Given the description of an element on the screen output the (x, y) to click on. 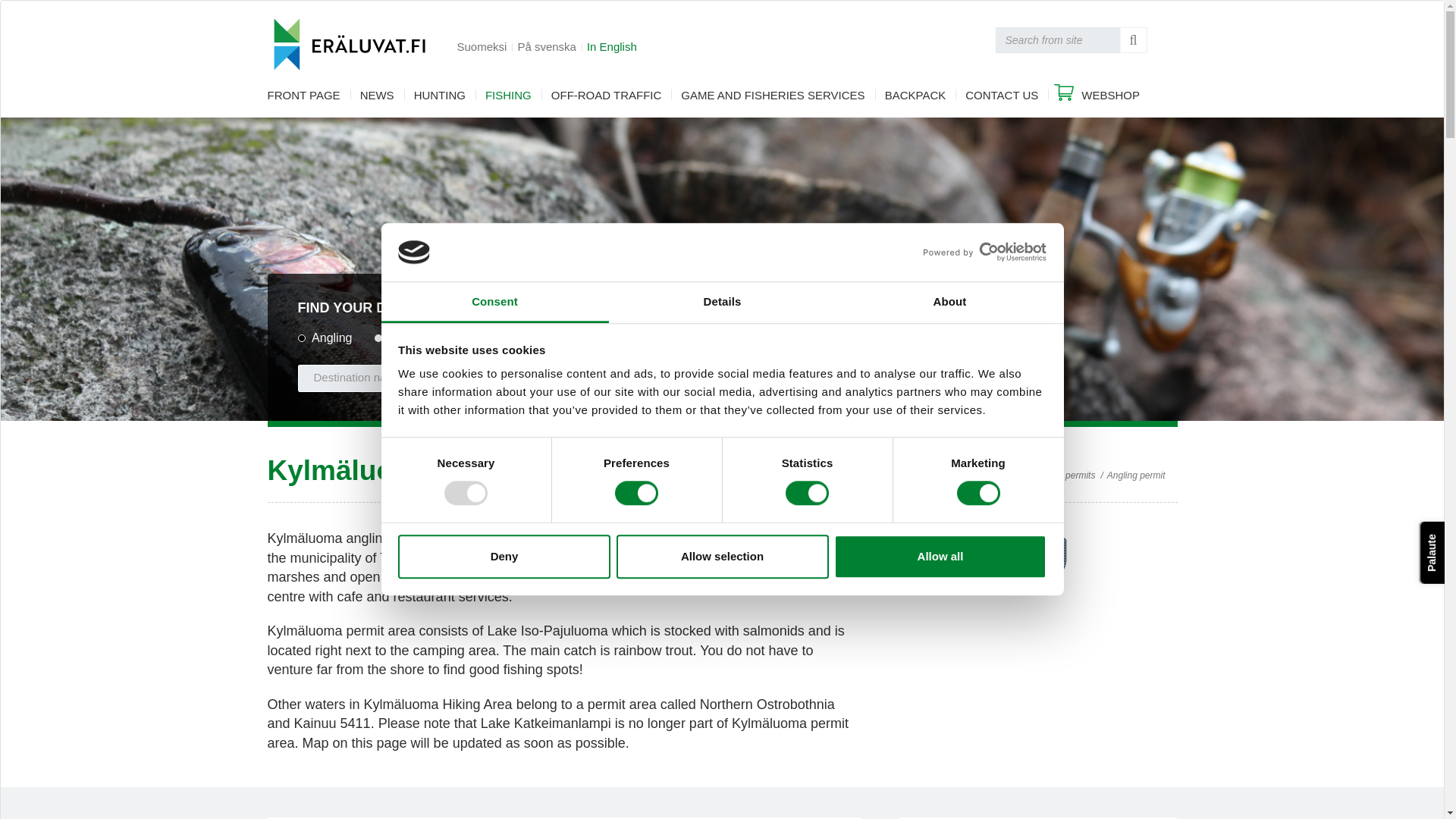
Allow all (940, 556)
Allow selection (721, 556)
Consent (494, 301)
Details (721, 301)
Deny (503, 556)
About (948, 301)
